Given the description of an element on the screen output the (x, y) to click on. 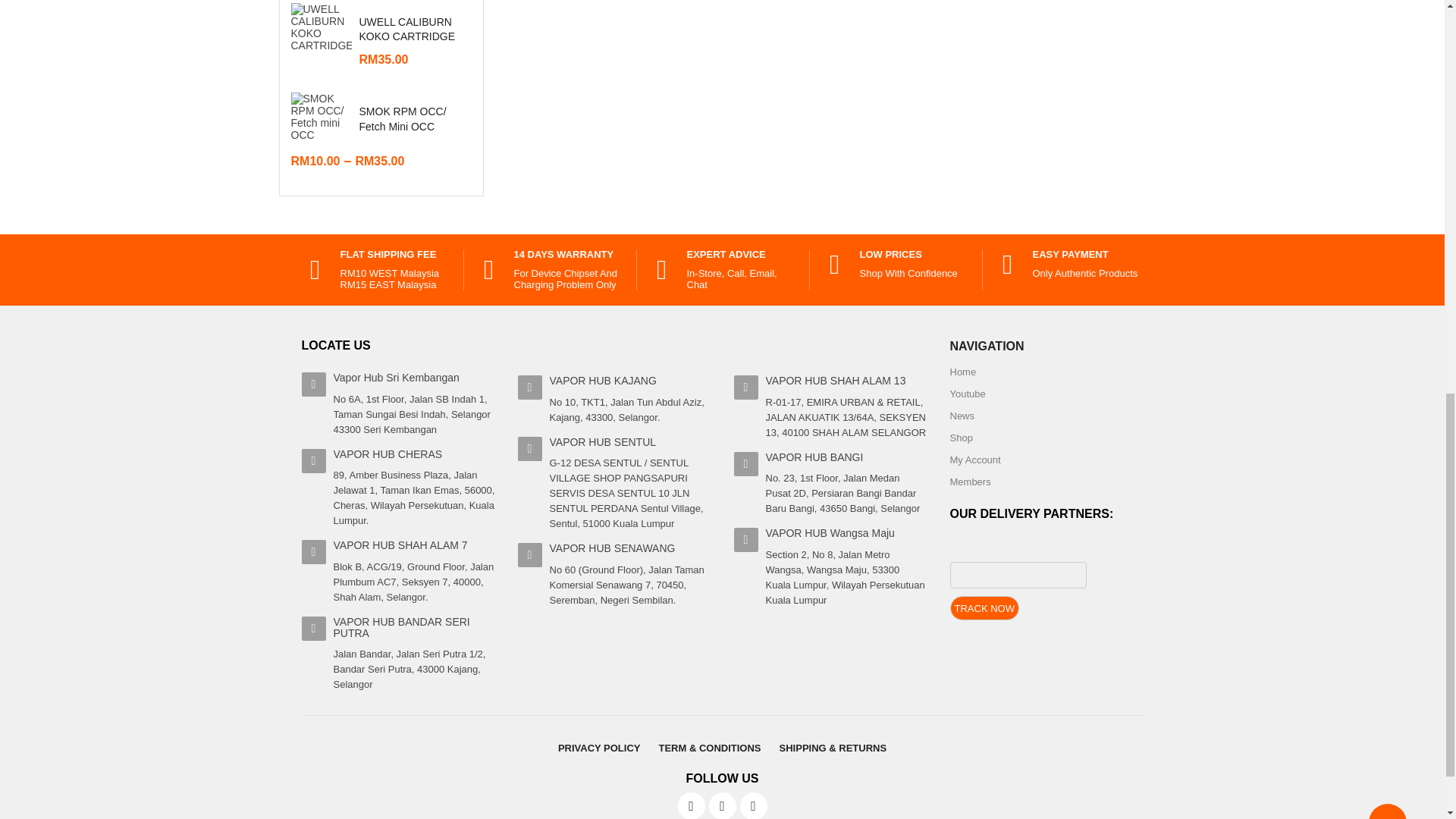
UWELL CALIBURN KOKO CARTRIDGE (321, 33)
TRACK NOW (983, 607)
UWELL CALIBURN KOKO CARTRIDGE (407, 29)
